Given the description of an element on the screen output the (x, y) to click on. 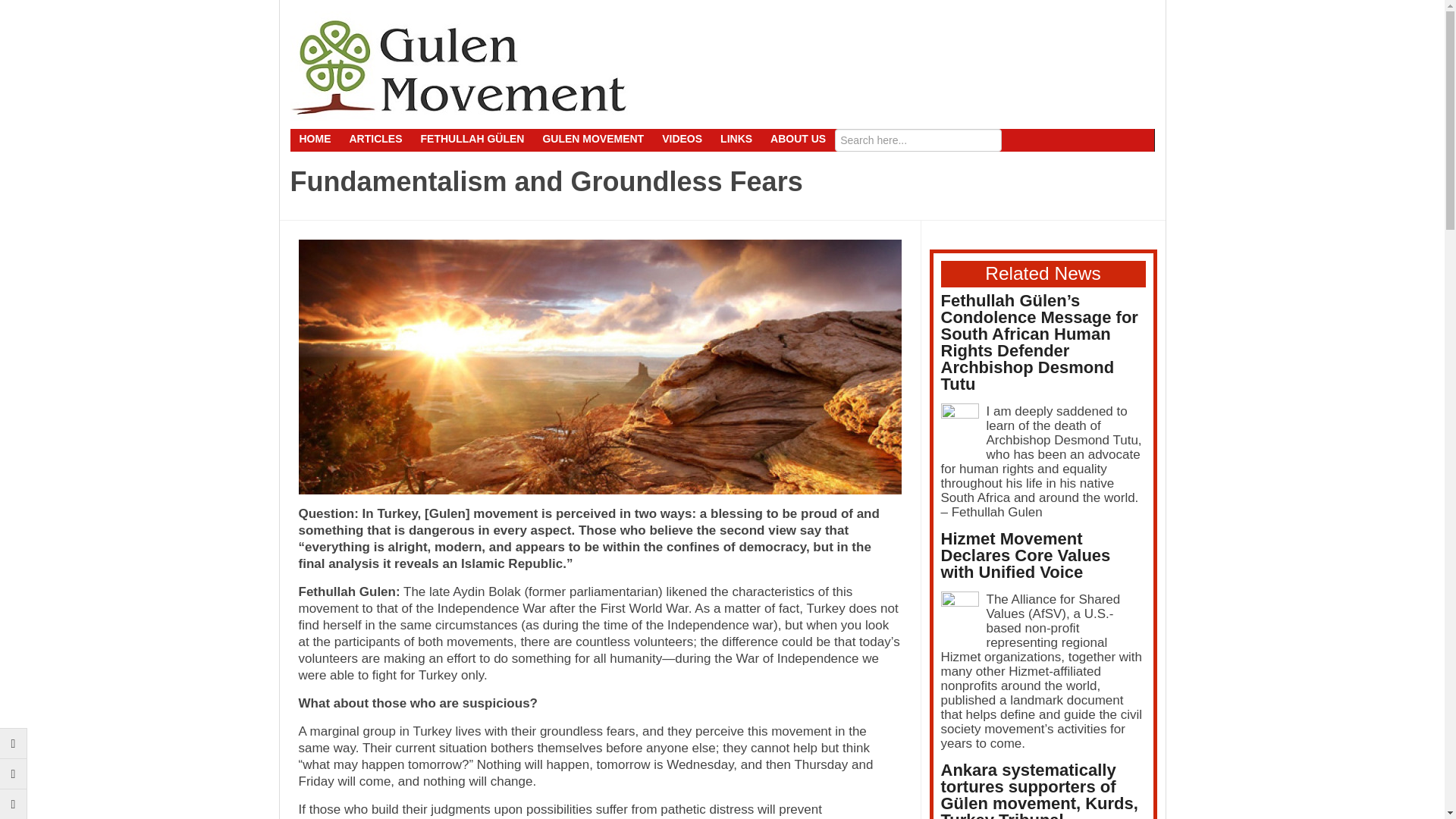
ABOUT US (797, 138)
LINKS (736, 138)
HOME (314, 138)
ARTICLES (374, 138)
GULEN MOVEMENT (592, 138)
Gulen Movement (459, 68)
Go to homepage (13, 803)
Prev post: Why do you stay in America? (13, 743)
VIDEOS (681, 138)
